Given the description of an element on the screen output the (x, y) to click on. 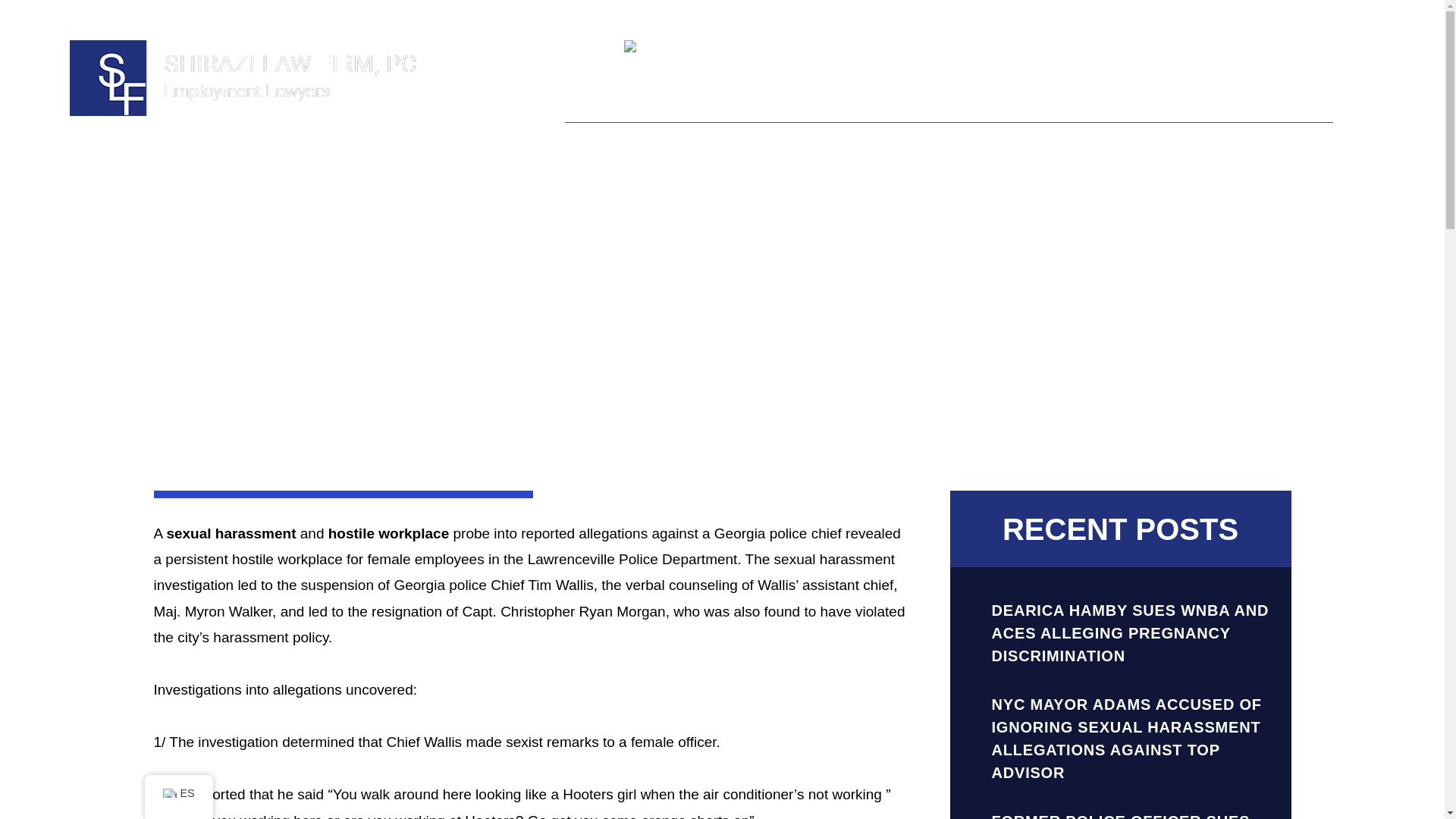
En Espanol (703, 47)
RESOURCES (1154, 105)
PRACTICE AREAS (830, 105)
ATTORNEY (693, 105)
En Espanol (703, 47)
En Espanol (168, 792)
HOME (595, 105)
REVIEWS (1040, 105)
BLOG (949, 105)
En Espanol (654, 48)
